Given the description of an element on the screen output the (x, y) to click on. 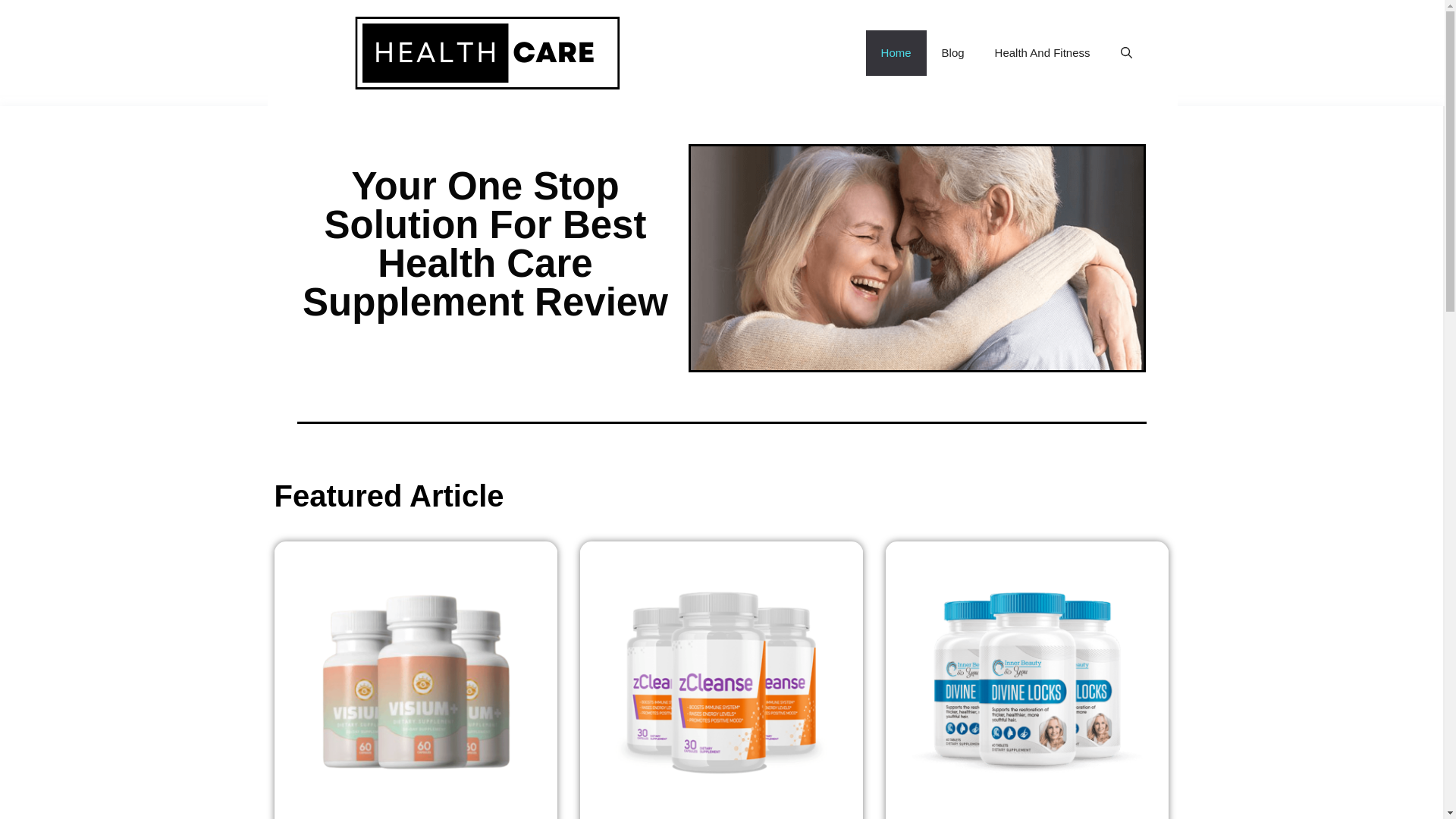
Health And Fitness (1042, 53)
Home (896, 53)
Blog (952, 53)
